Given the description of an element on the screen output the (x, y) to click on. 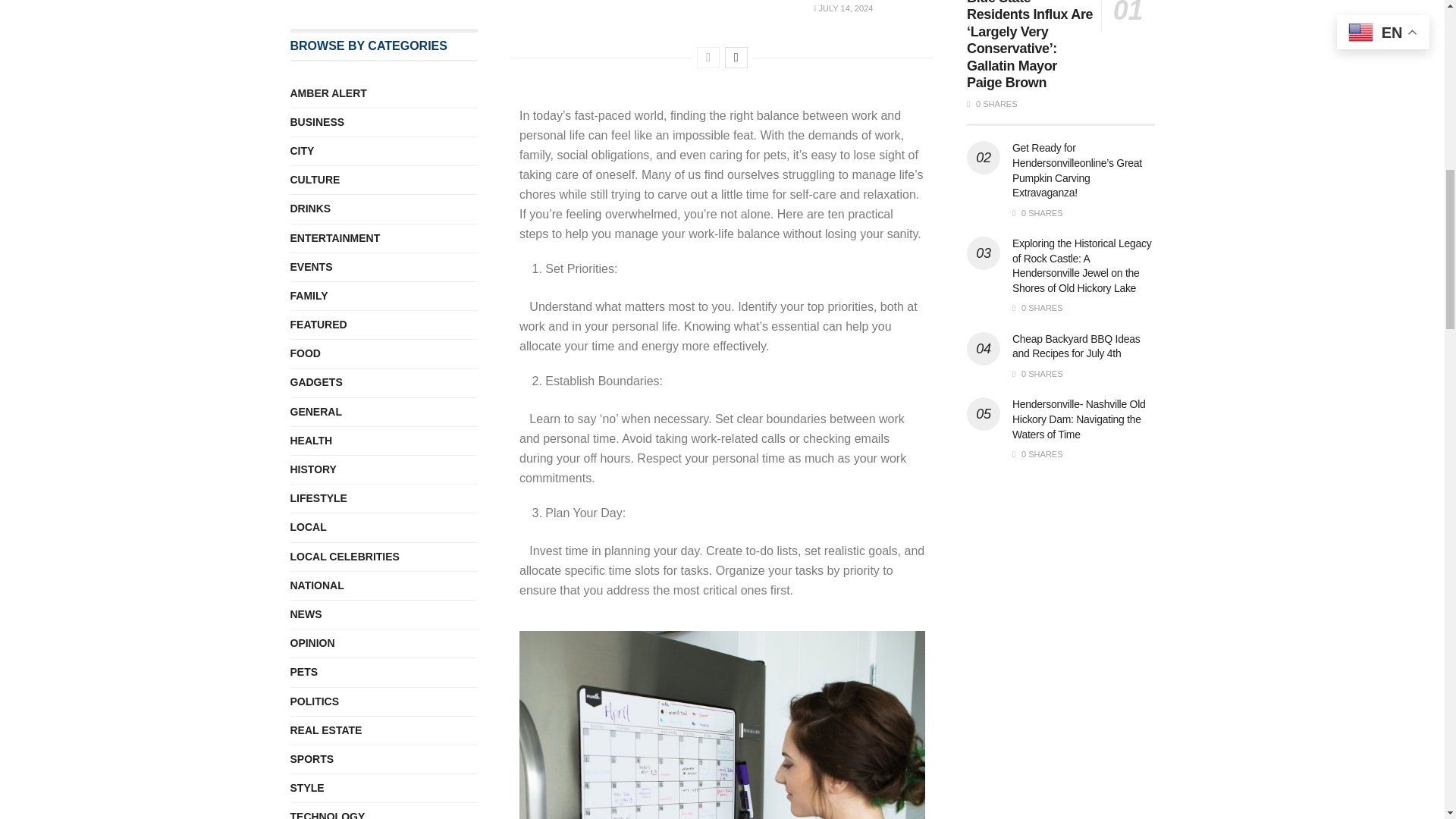
Previous (708, 56)
Next (736, 56)
